Given the description of an element on the screen output the (x, y) to click on. 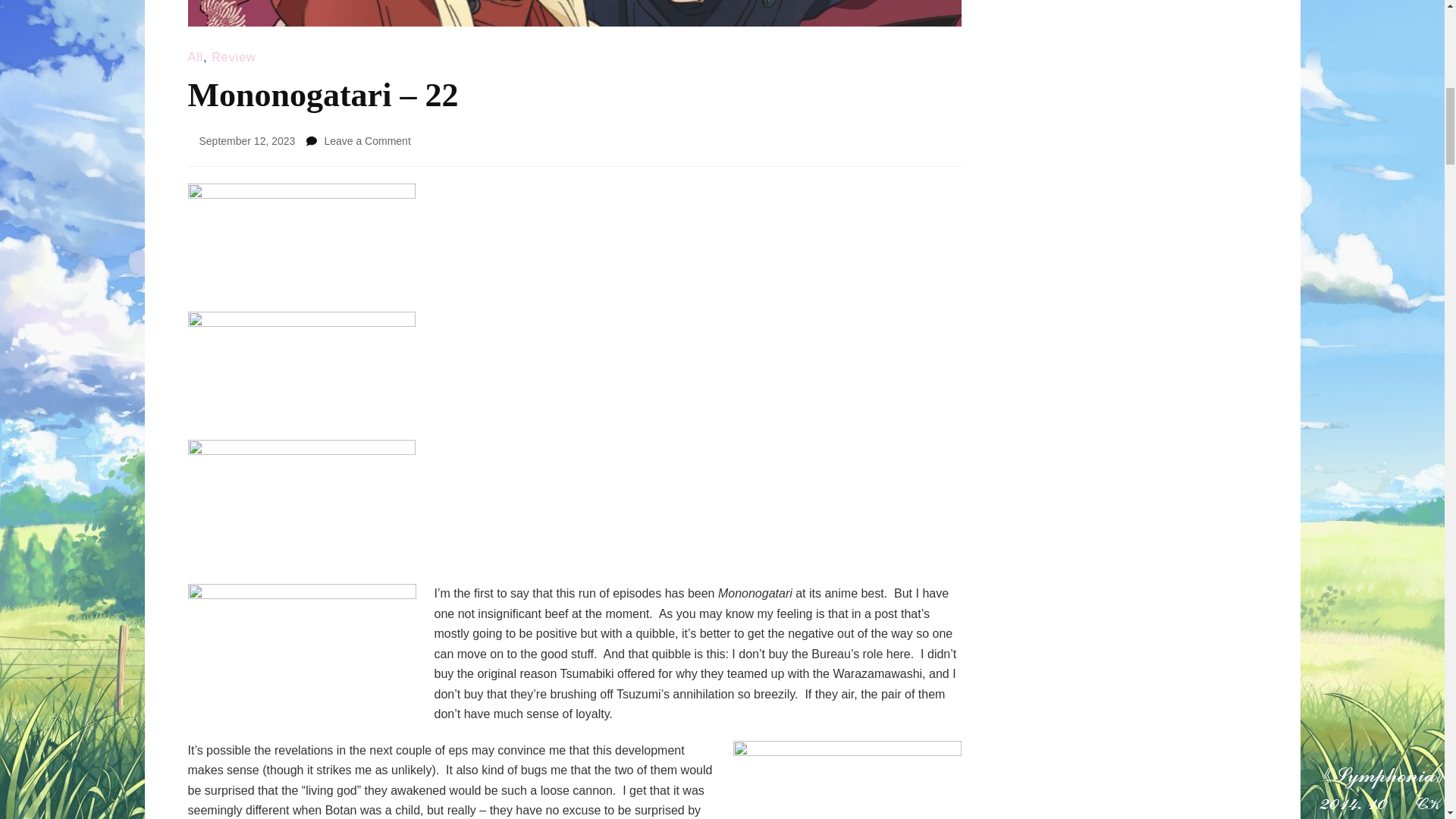
Review (233, 56)
September 12, 2023 (246, 141)
All (195, 56)
